Given the description of an element on the screen output the (x, y) to click on. 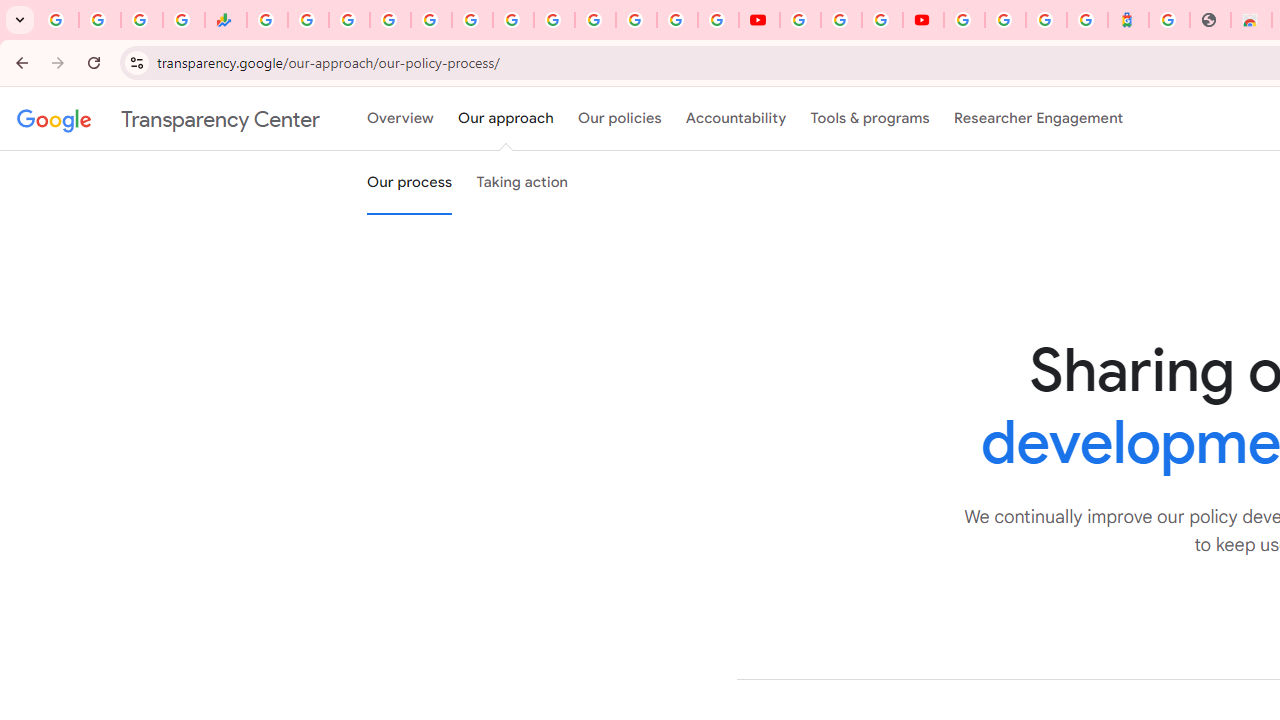
Privacy Checkup (717, 20)
Android TV Policies and Guidelines - Transparency Center (512, 20)
YouTube (553, 20)
Create your Google Account (881, 20)
Google Account Help (840, 20)
Transparency Center (167, 119)
YouTube (758, 20)
Tools & programs (869, 119)
Our process (409, 183)
YouTube (799, 20)
